Given the description of an element on the screen output the (x, y) to click on. 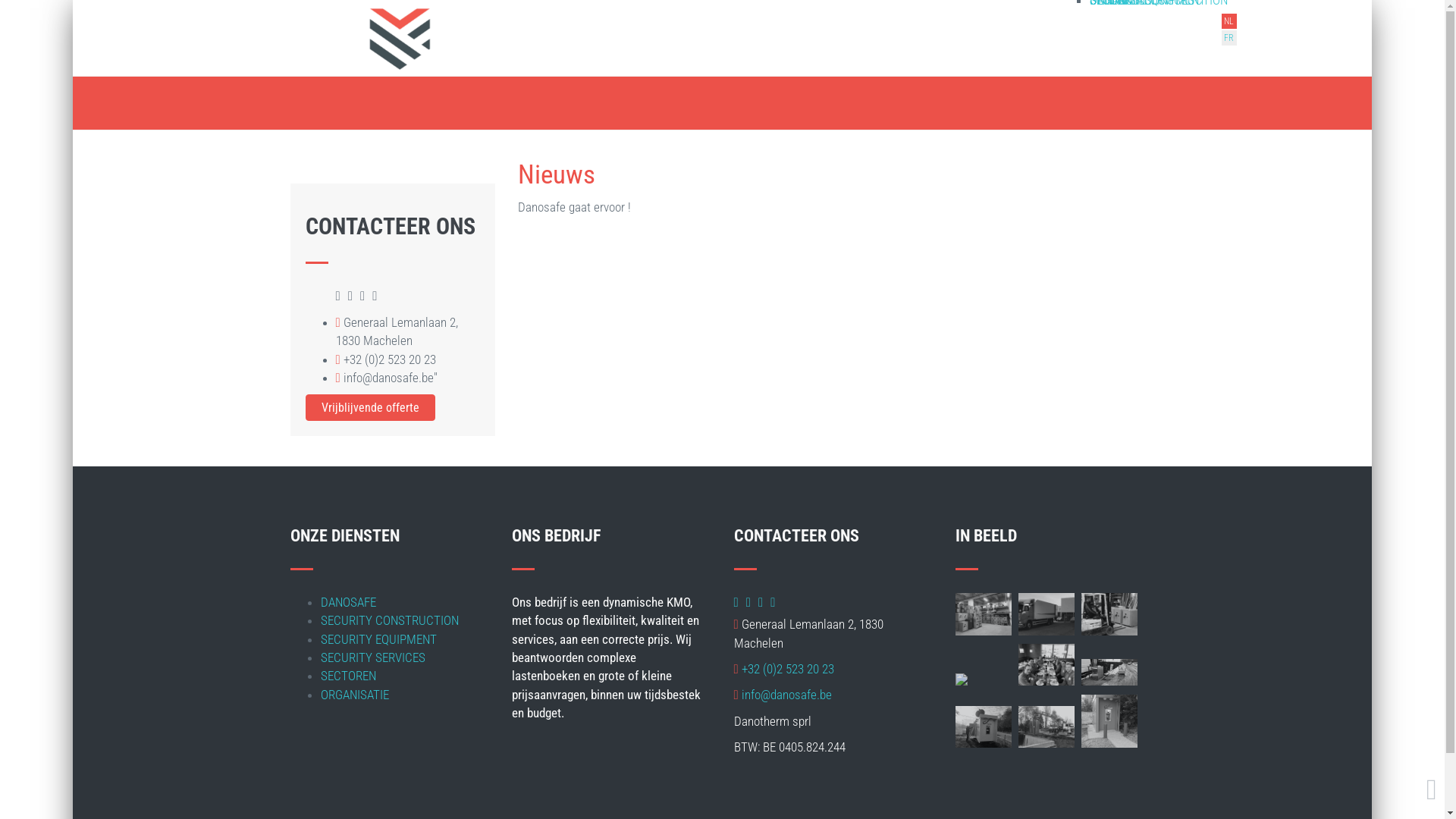
info@danosafe.be" Element type: text (390, 377)
+32 (0)2 523 20 23 Element type: text (389, 359)
ORGANISATIE Element type: text (354, 694)
FR Element type: text (1228, 37)
+32 (0)2 523 20 23 Element type: text (787, 668)
SECURITY EQUIPMENT Element type: text (378, 638)
SECTOREN Element type: text (347, 675)
SECURITY CONSTRUCTION Element type: text (389, 619)
DANOSAFE Element type: text (347, 601)
SECURITY SERVICES Element type: text (372, 657)
info@danosafe.be Element type: text (786, 694)
Vrijblijvende offerte Element type: text (369, 407)
NL Element type: text (1228, 20)
